Given the description of an element on the screen output the (x, y) to click on. 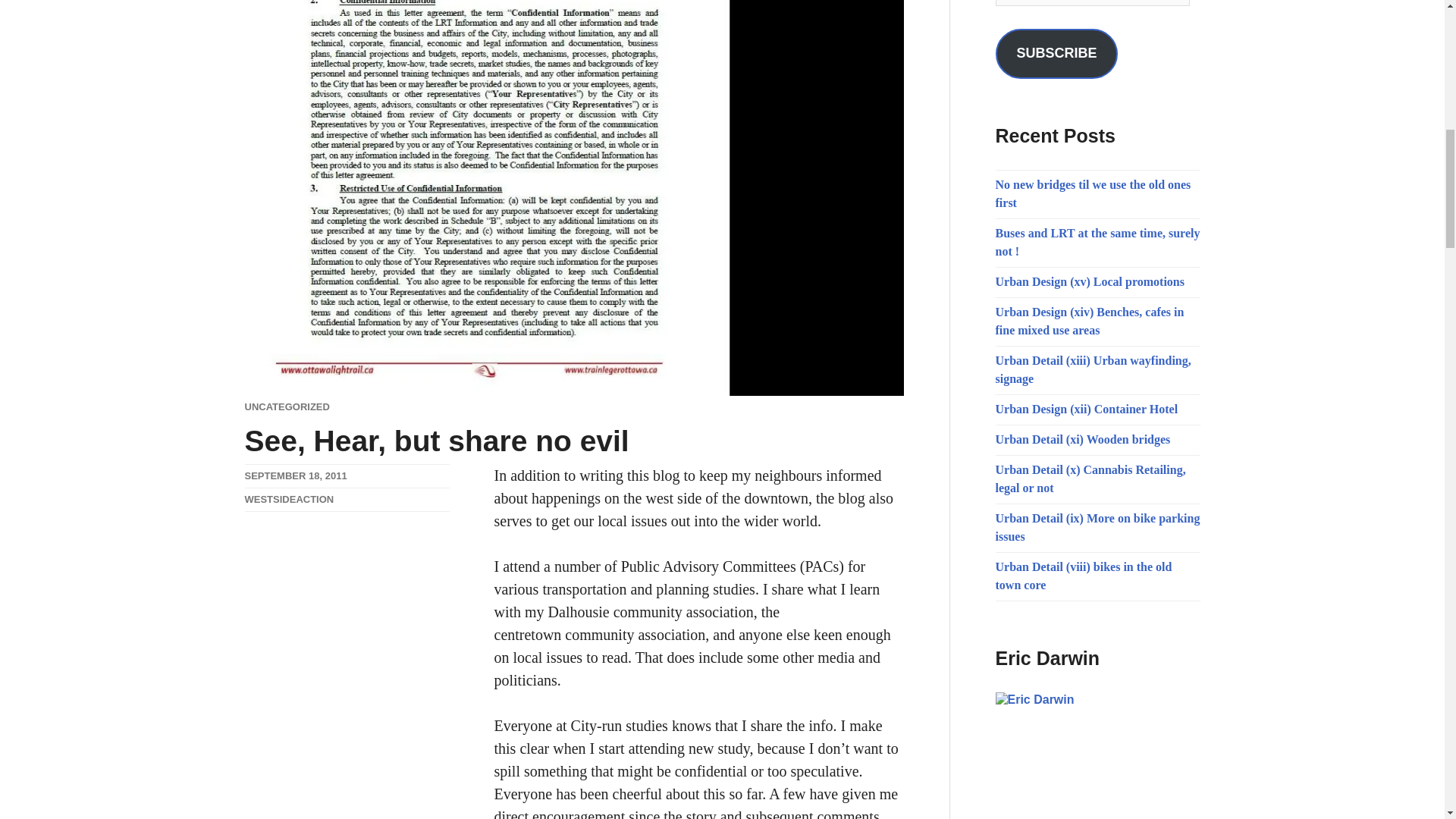
SEPTEMBER 18, 2011 (295, 475)
No new bridges til we use the old ones first (1092, 193)
UNCATEGORIZED (286, 406)
WESTSIDEACTION (288, 499)
Buses and LRT at the same time, surely not ! (1096, 241)
SUBSCRIBE (1056, 53)
